Given the description of an element on the screen output the (x, y) to click on. 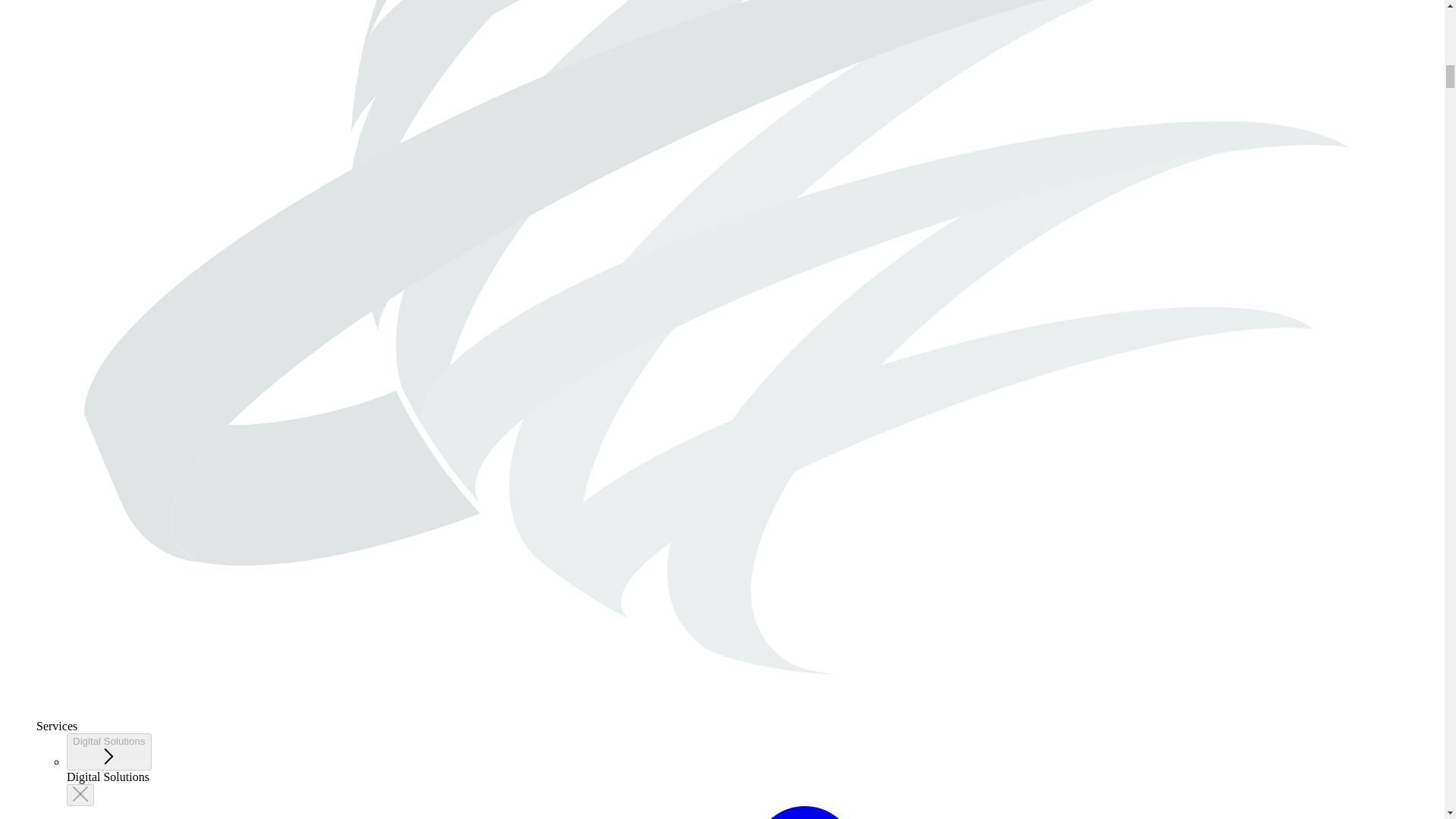
Digital Solutions (108, 751)
